Given the description of an element on the screen output the (x, y) to click on. 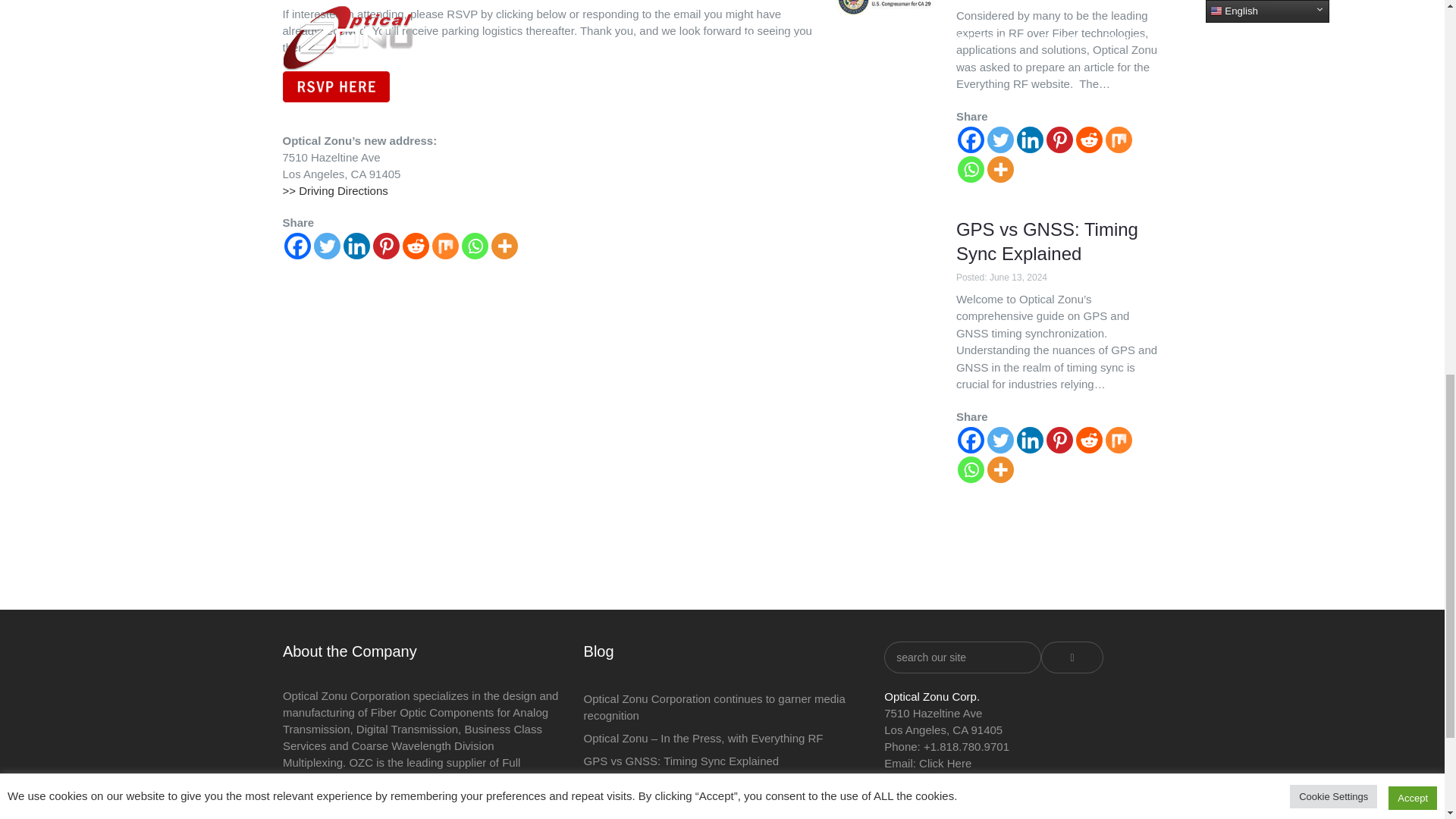
Linkedin (355, 245)
More (505, 245)
Facebook (296, 245)
Mix (445, 245)
Twitter (327, 245)
Whatsapp (474, 245)
Pinterest (385, 245)
Reddit (414, 245)
